Given the description of an element on the screen output the (x, y) to click on. 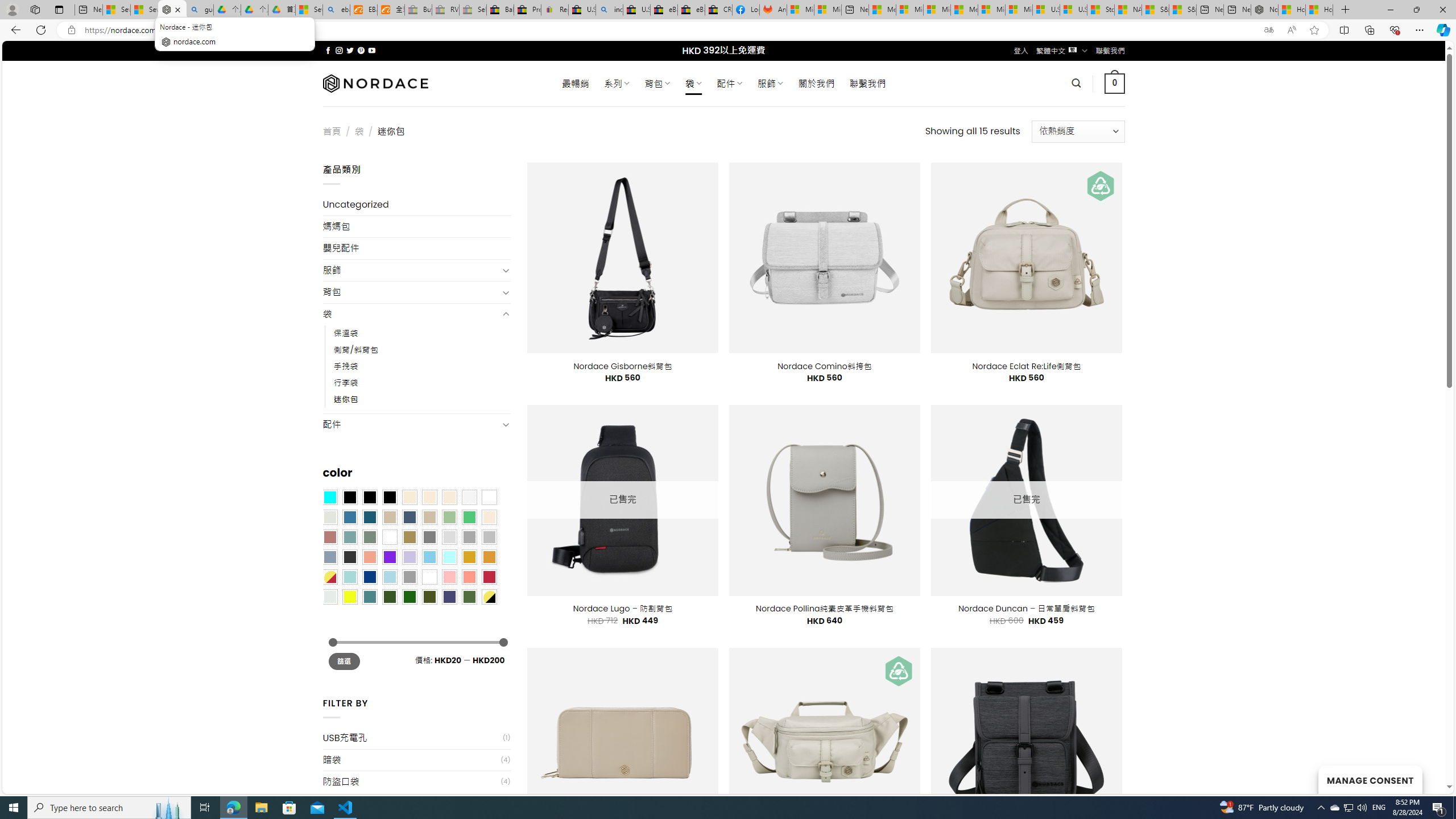
How to Use a Monitor With Your Closed Laptop (1319, 9)
  0   (1115, 83)
Sell worldwide with eBay - Sleeping (473, 9)
Show translate options (1268, 29)
Follow on Twitter (349, 50)
